Given the description of an element on the screen output the (x, y) to click on. 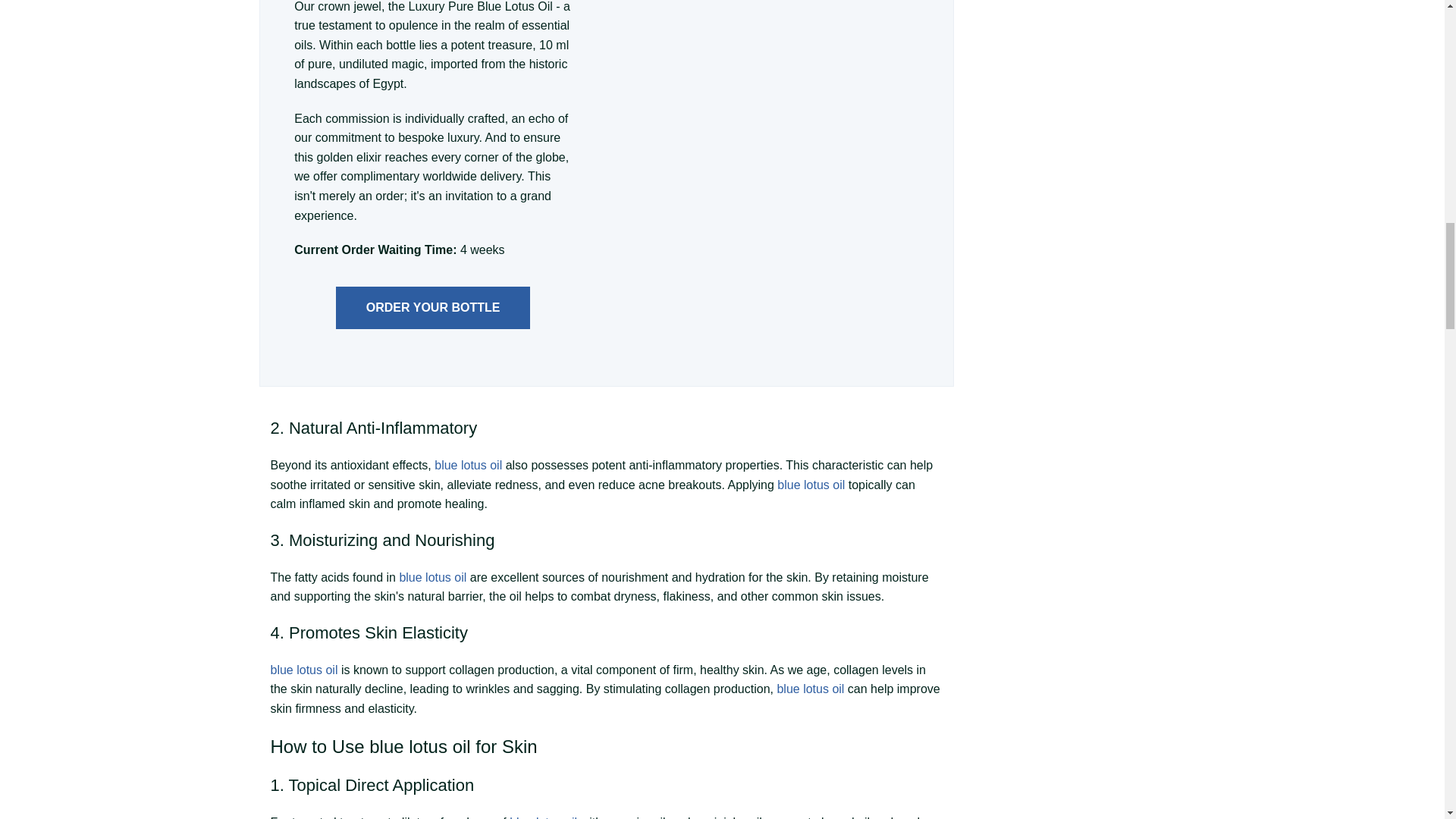
blue lotus oil (467, 464)
blue lotus oil (303, 669)
blue lotus oil (431, 576)
blue lotus oil (810, 484)
ORDER YOUR BOTTLE (433, 307)
